Given the description of an element on the screen output the (x, y) to click on. 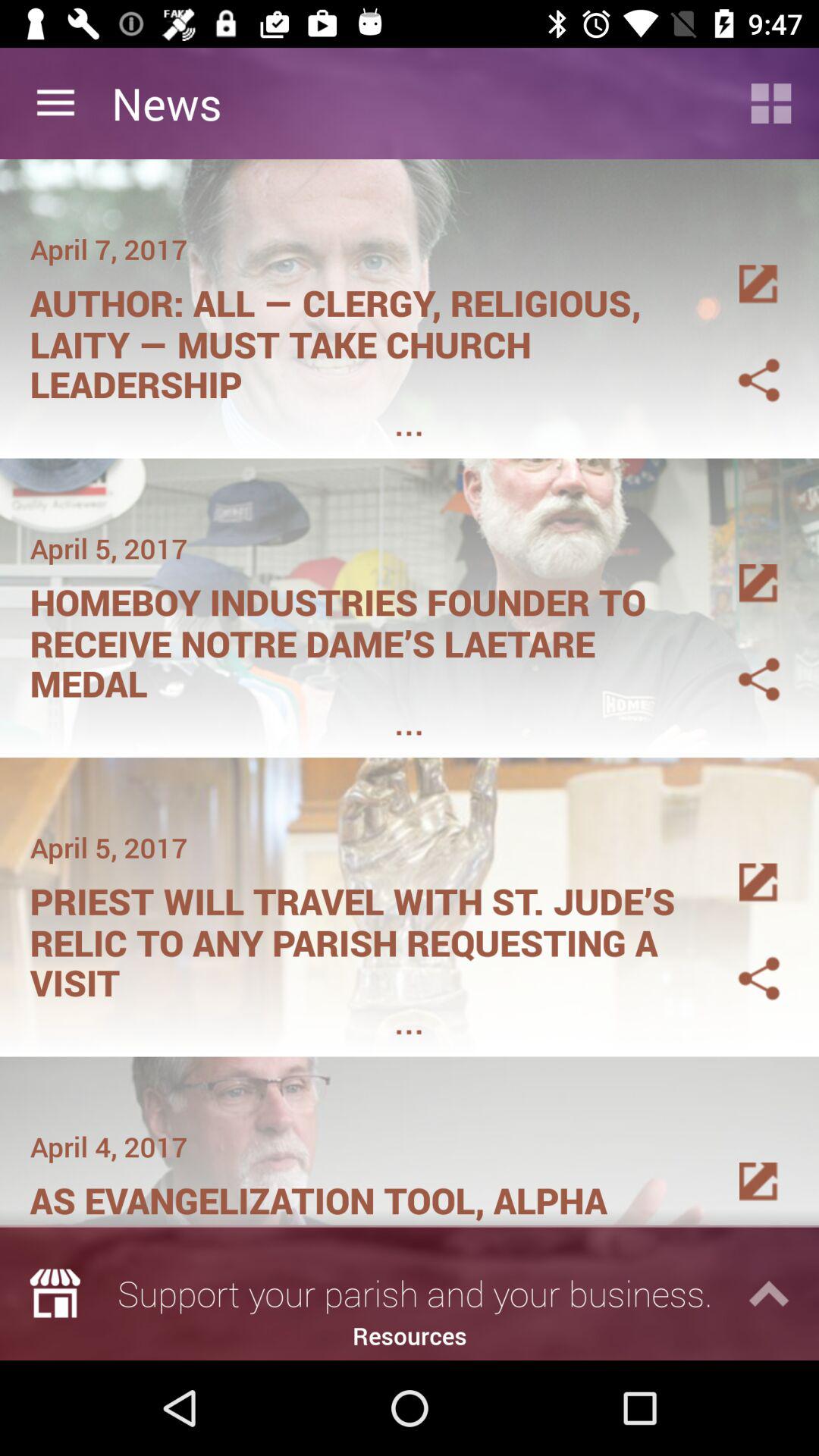
open the homeboy industries founder icon (361, 638)
